Given the description of an element on the screen output the (x, y) to click on. 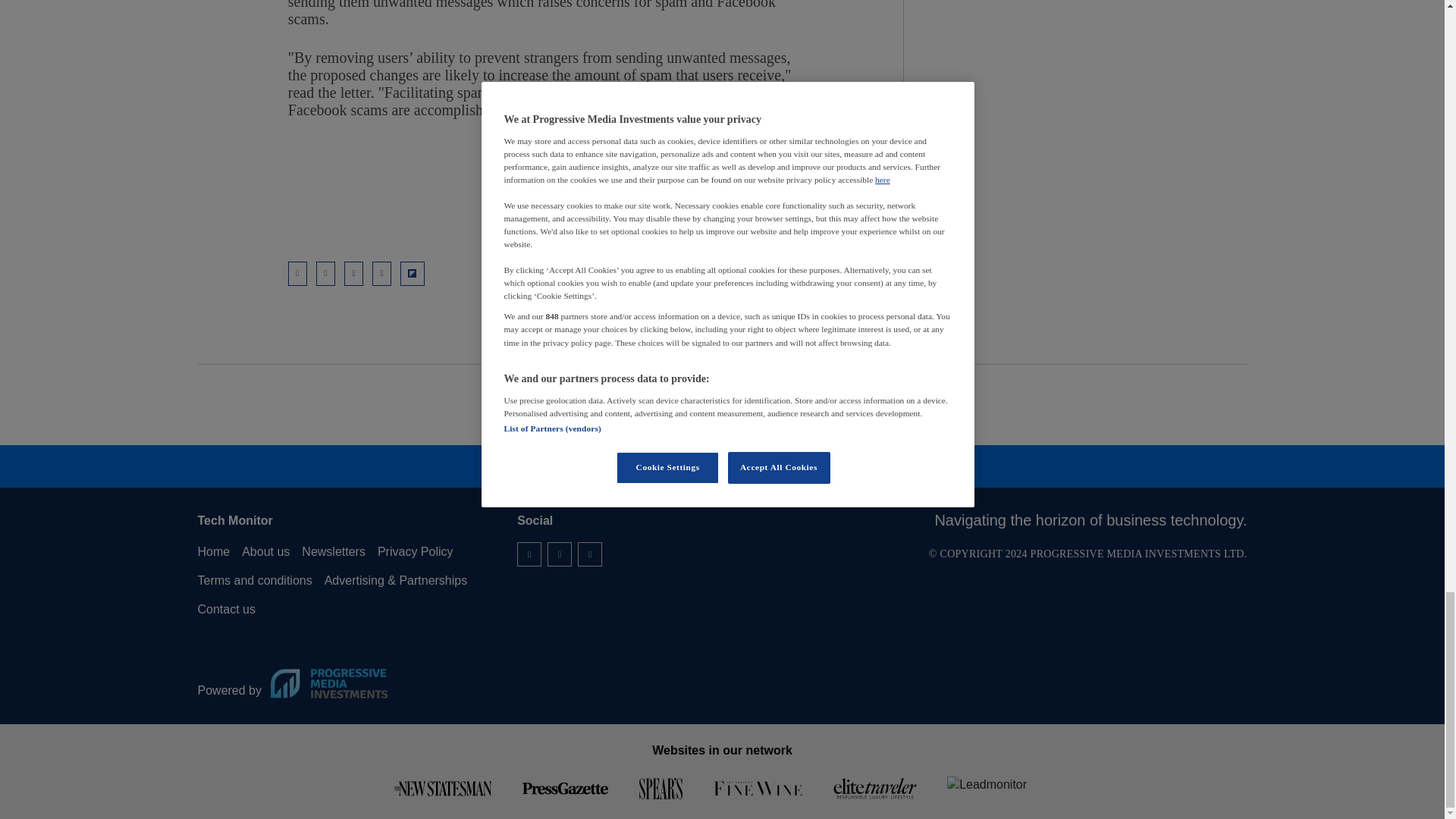
Share on Flipboard (412, 273)
